Given the description of an element on the screen output the (x, y) to click on. 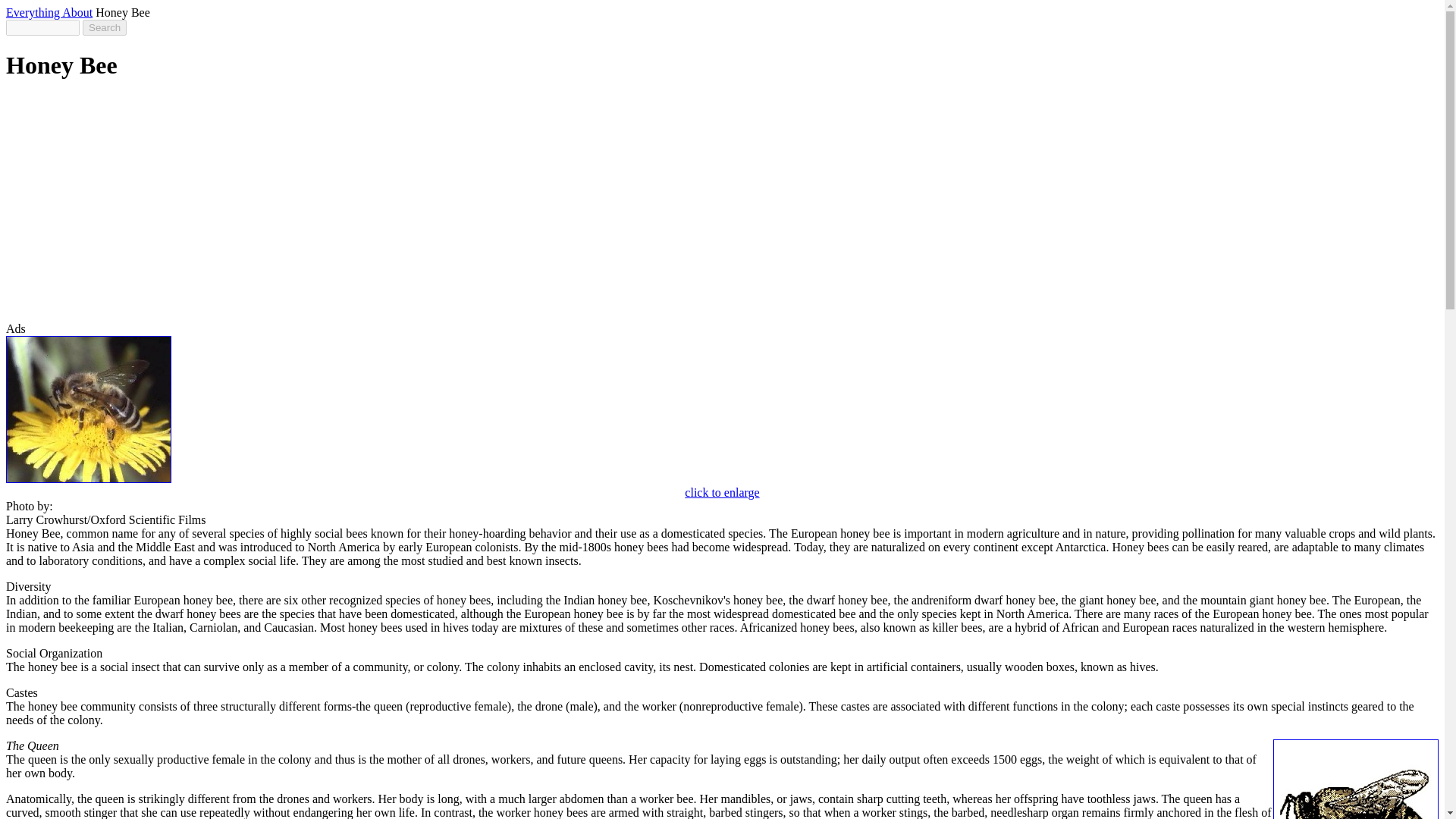
Search EverythingAbout.net (104, 27)
Everything About (49, 11)
Advertisement (282, 202)
HOME (49, 11)
Search (104, 27)
Search (104, 27)
